Given the description of an element on the screen output the (x, y) to click on. 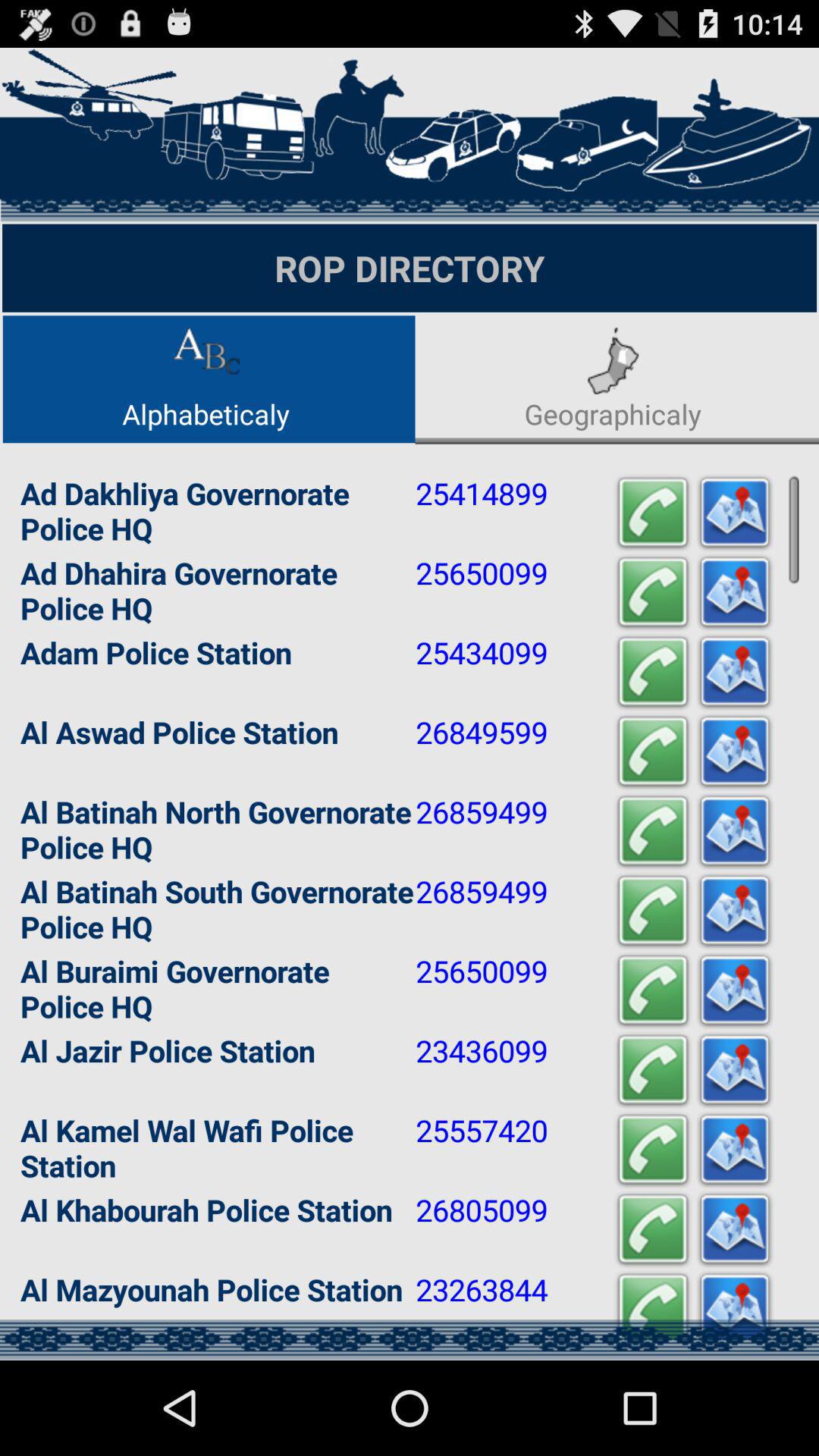
get directions (734, 592)
